Given the description of an element on the screen output the (x, y) to click on. 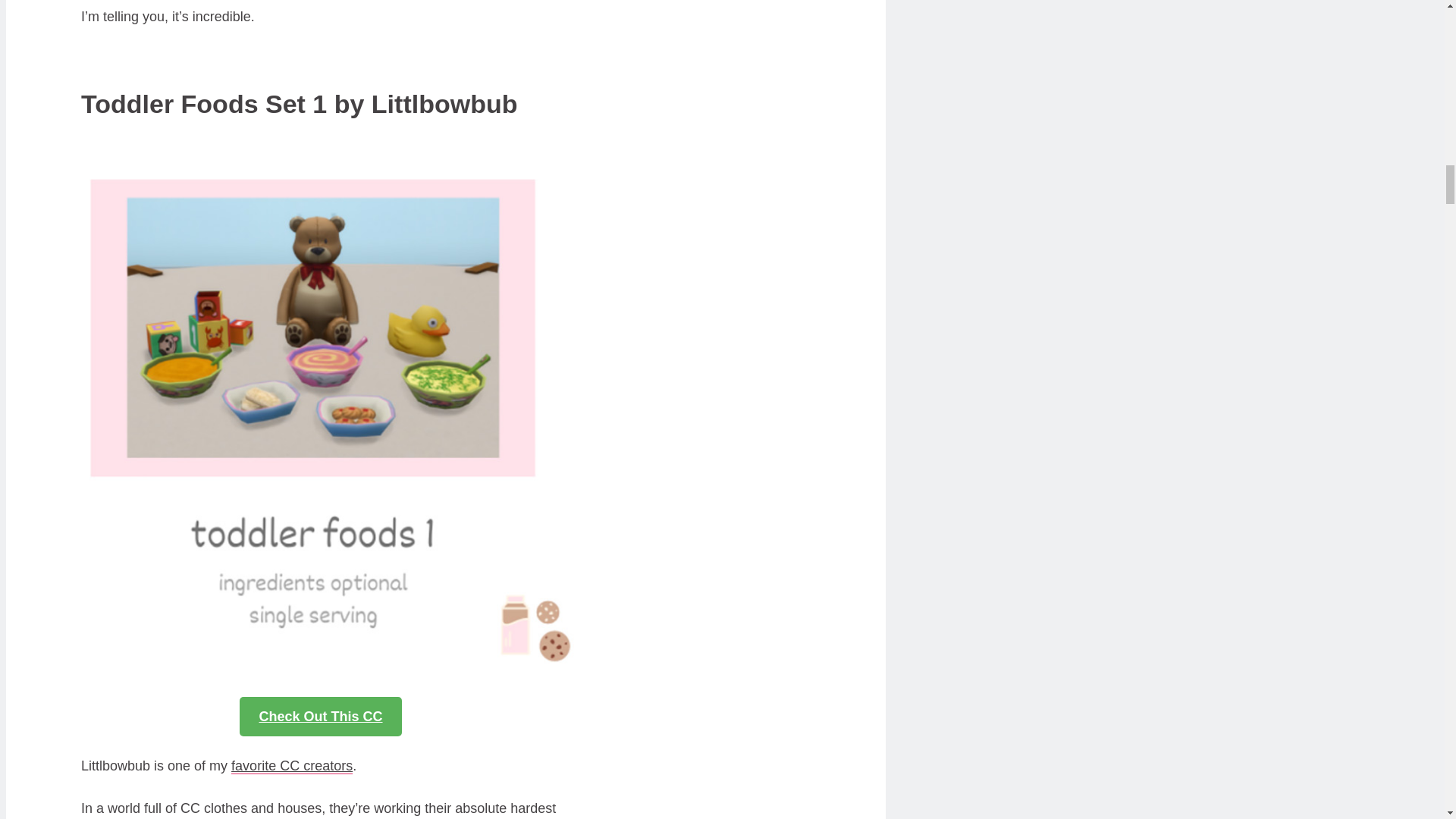
favorite CC creators (291, 765)
Check Out This CC (320, 716)
